Given the description of an element on the screen output the (x, y) to click on. 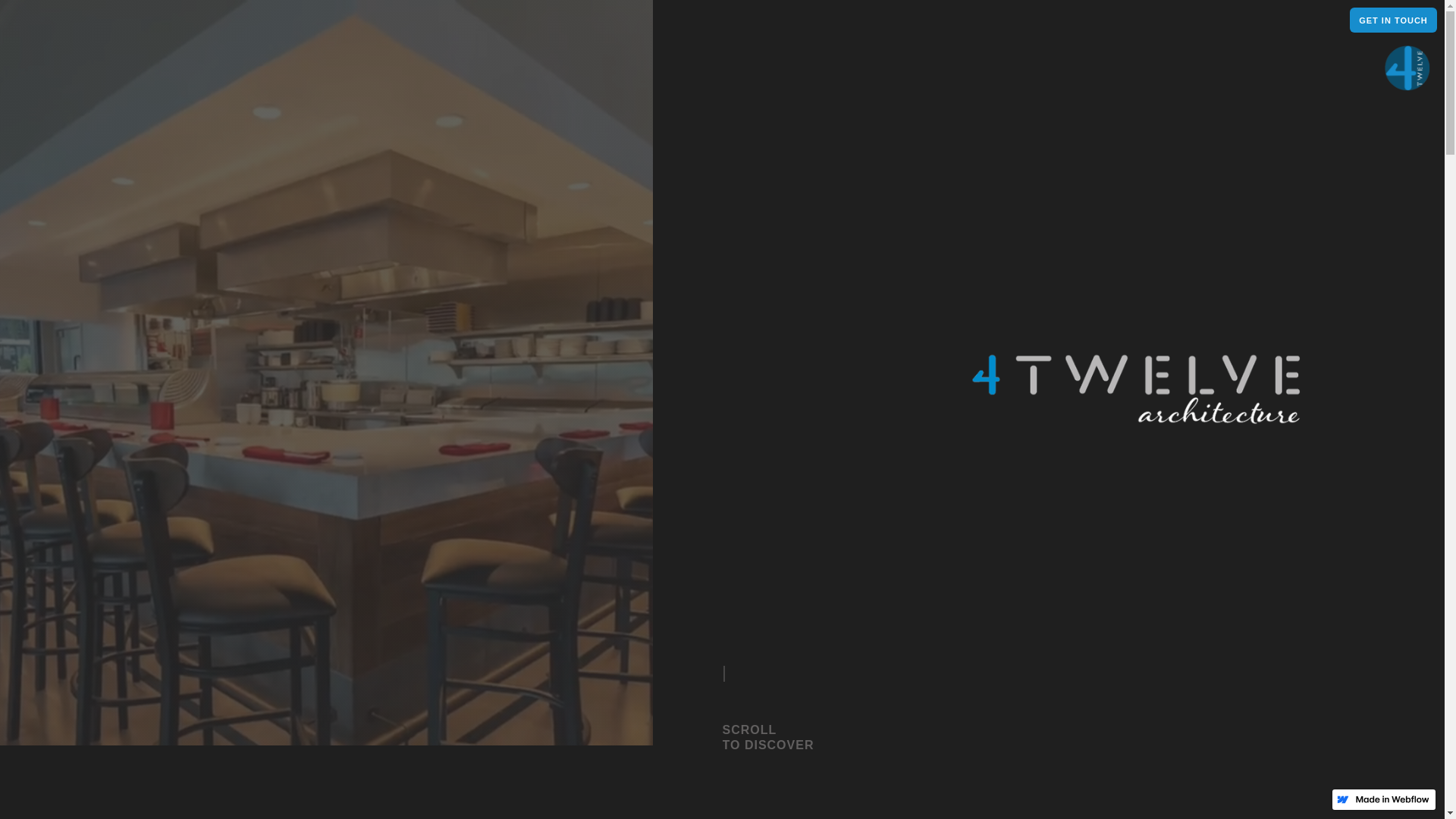
GET IN TOUCH Element type: text (1393, 19)
